Given the description of an element on the screen output the (x, y) to click on. 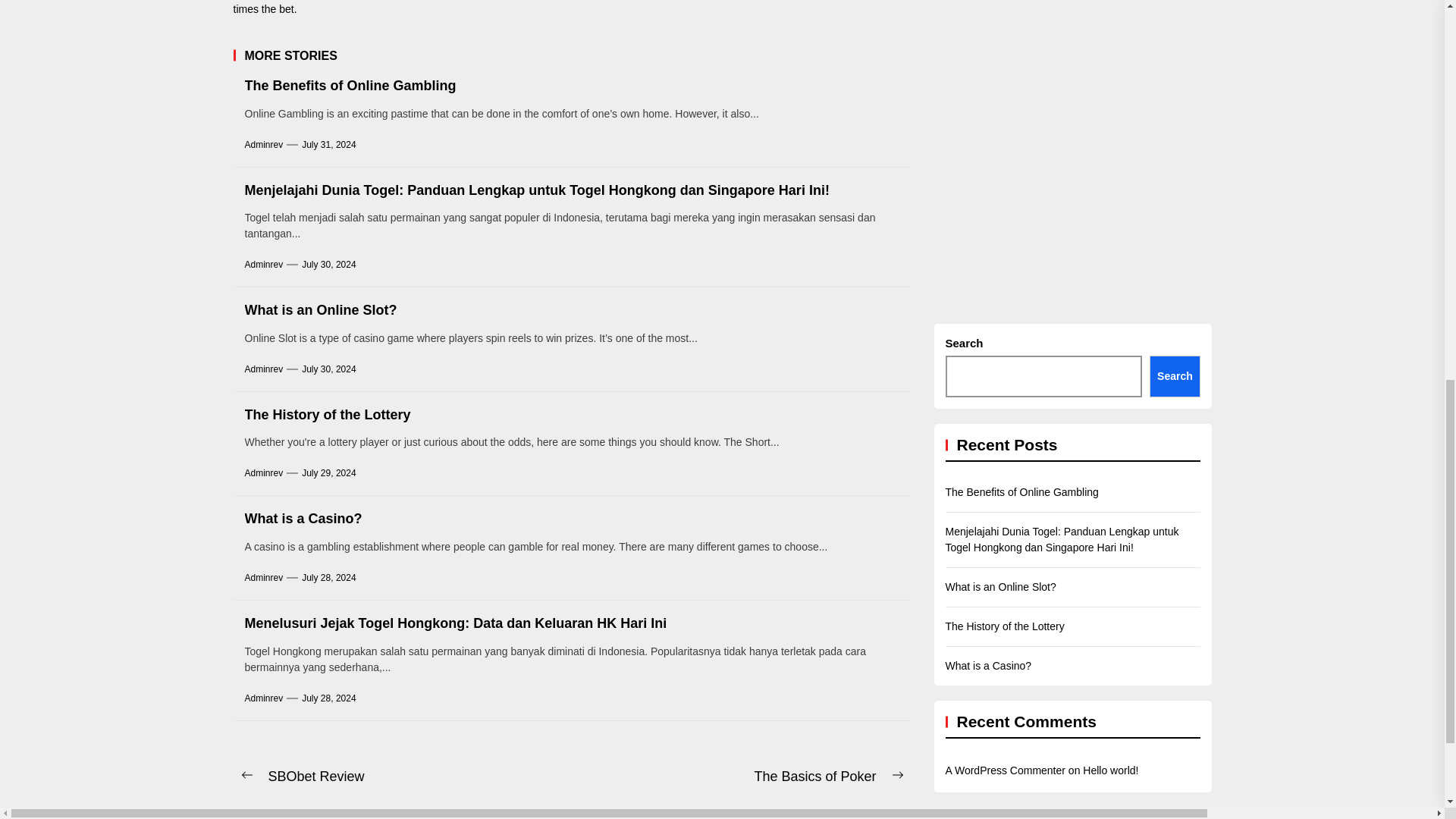
October 2022 (1439, 113)
November 2022 (1439, 73)
July 2022 (1439, 152)
December 2022 (1439, 34)
January 2023 (1439, 1)
